Given the description of an element on the screen output the (x, y) to click on. 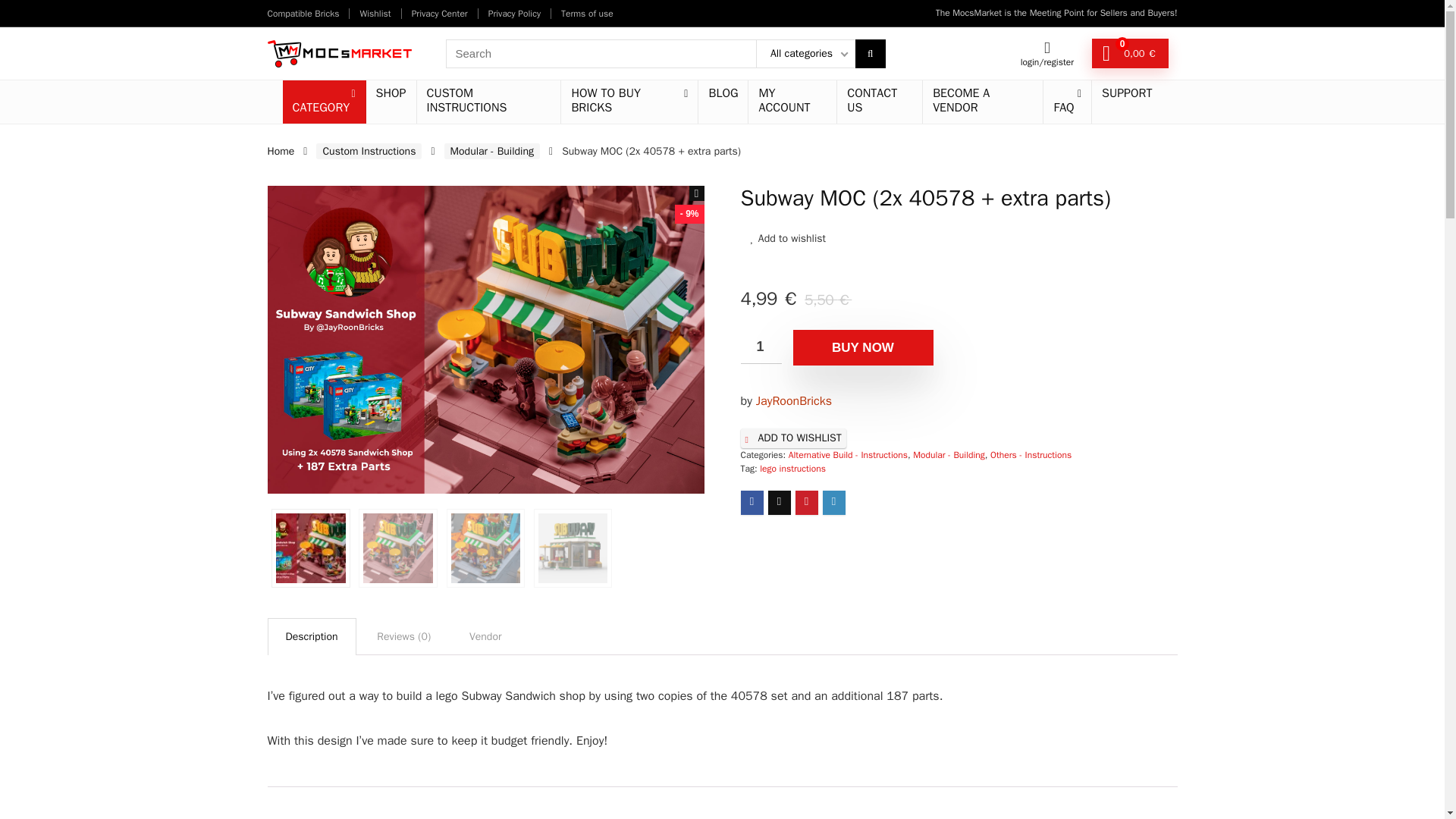
CATEGORY (323, 101)
Privacy Policy (513, 13)
Wishlist (374, 13)
Privacy Center (439, 13)
Compatible Bricks (302, 13)
1 (759, 346)
Terms of use (586, 13)
